Given the description of an element on the screen output the (x, y) to click on. 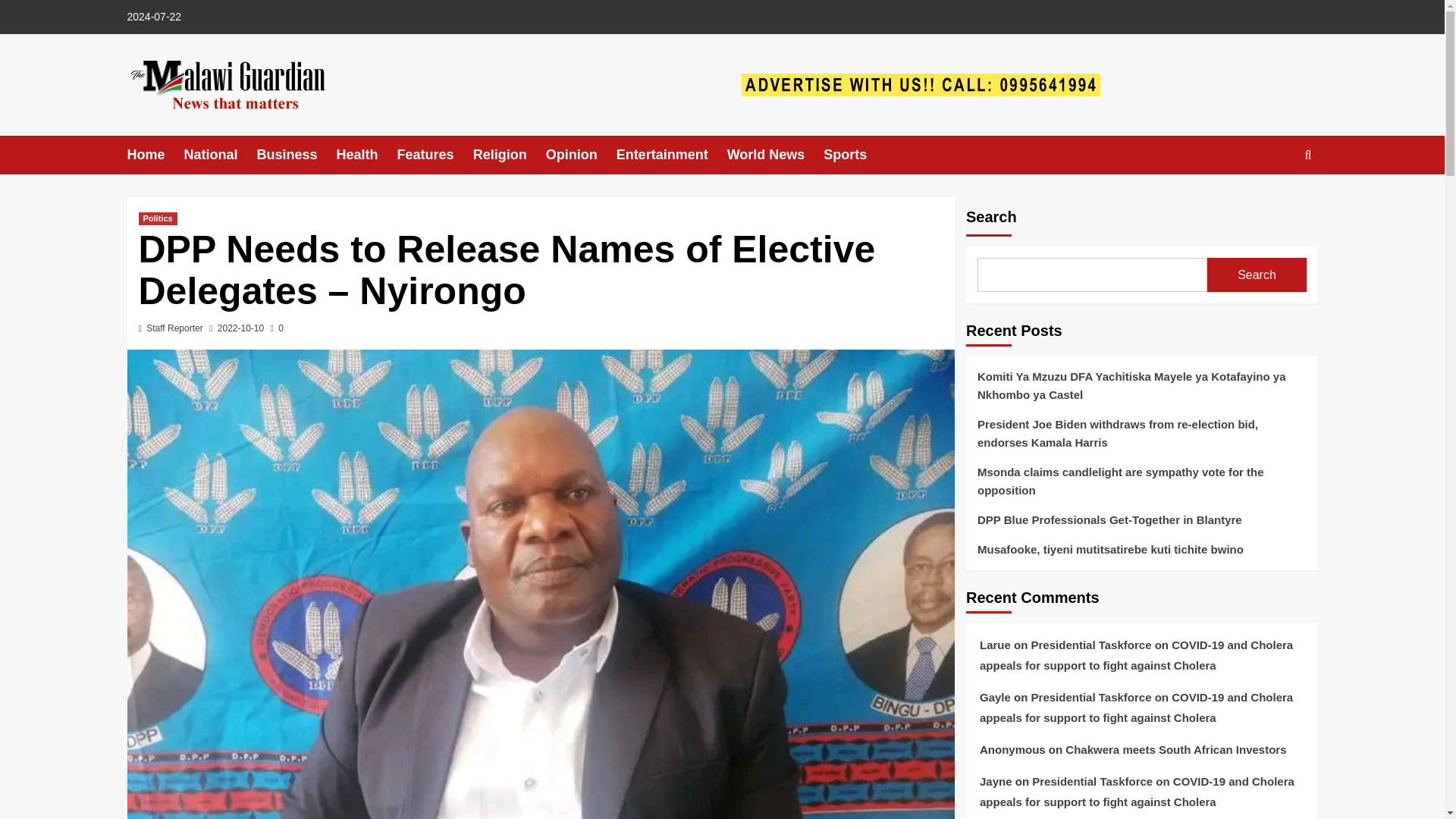
Sports (854, 154)
Entertainment (670, 154)
Search (1272, 202)
Religion (509, 154)
2022-10-10 (239, 327)
Features (435, 154)
Staff Reporter (174, 327)
National (220, 154)
Home (156, 154)
World News (775, 154)
Politics (157, 218)
Health (366, 154)
Opinion (580, 154)
Business (296, 154)
0 (276, 327)
